Given the description of an element on the screen output the (x, y) to click on. 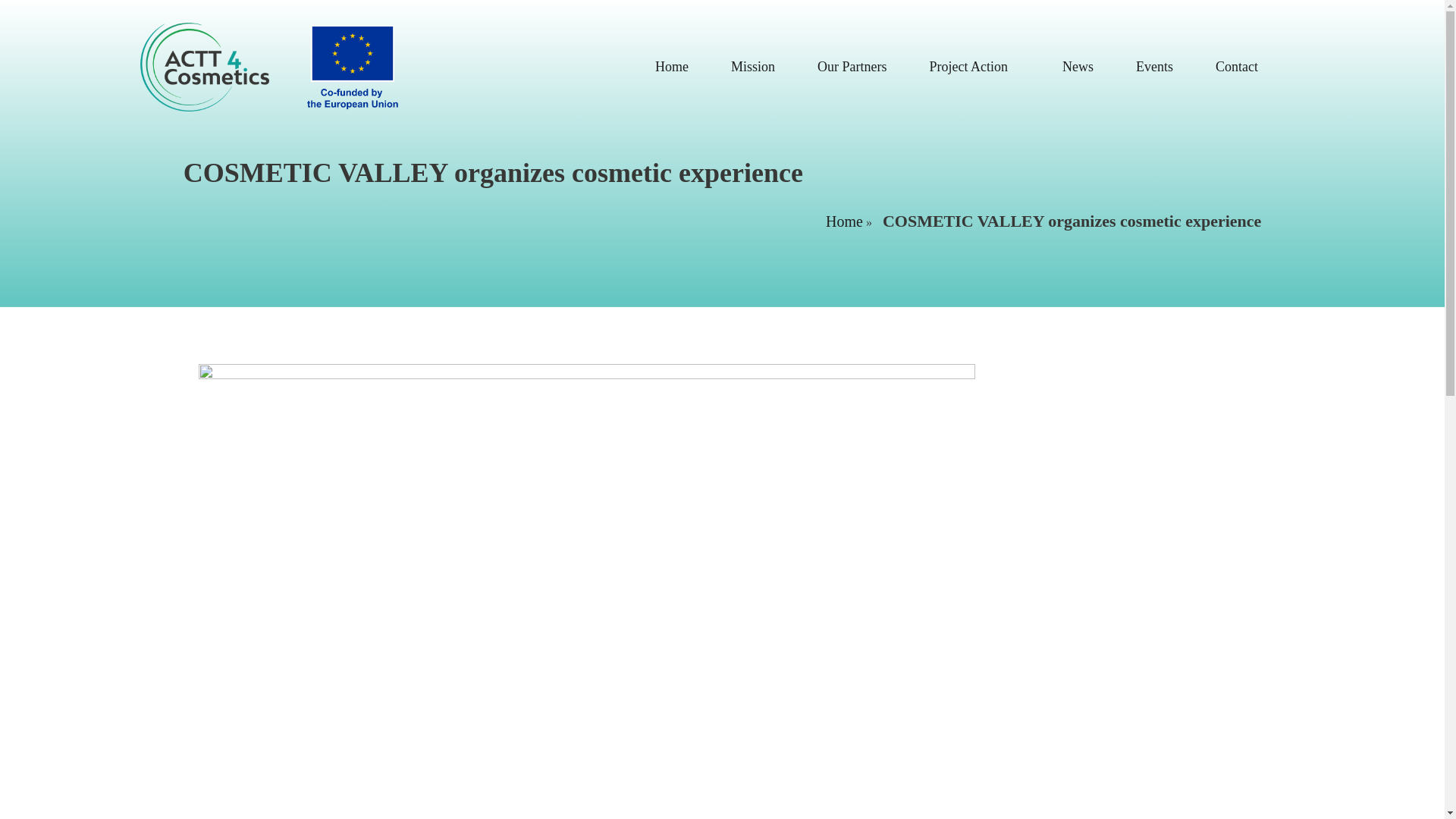
Events (1154, 66)
News (1077, 66)
Home (844, 221)
Mission (753, 66)
Contact (1236, 66)
Home (671, 66)
Project Action (974, 66)
Our Partners (851, 66)
